Given the description of an element on the screen output the (x, y) to click on. 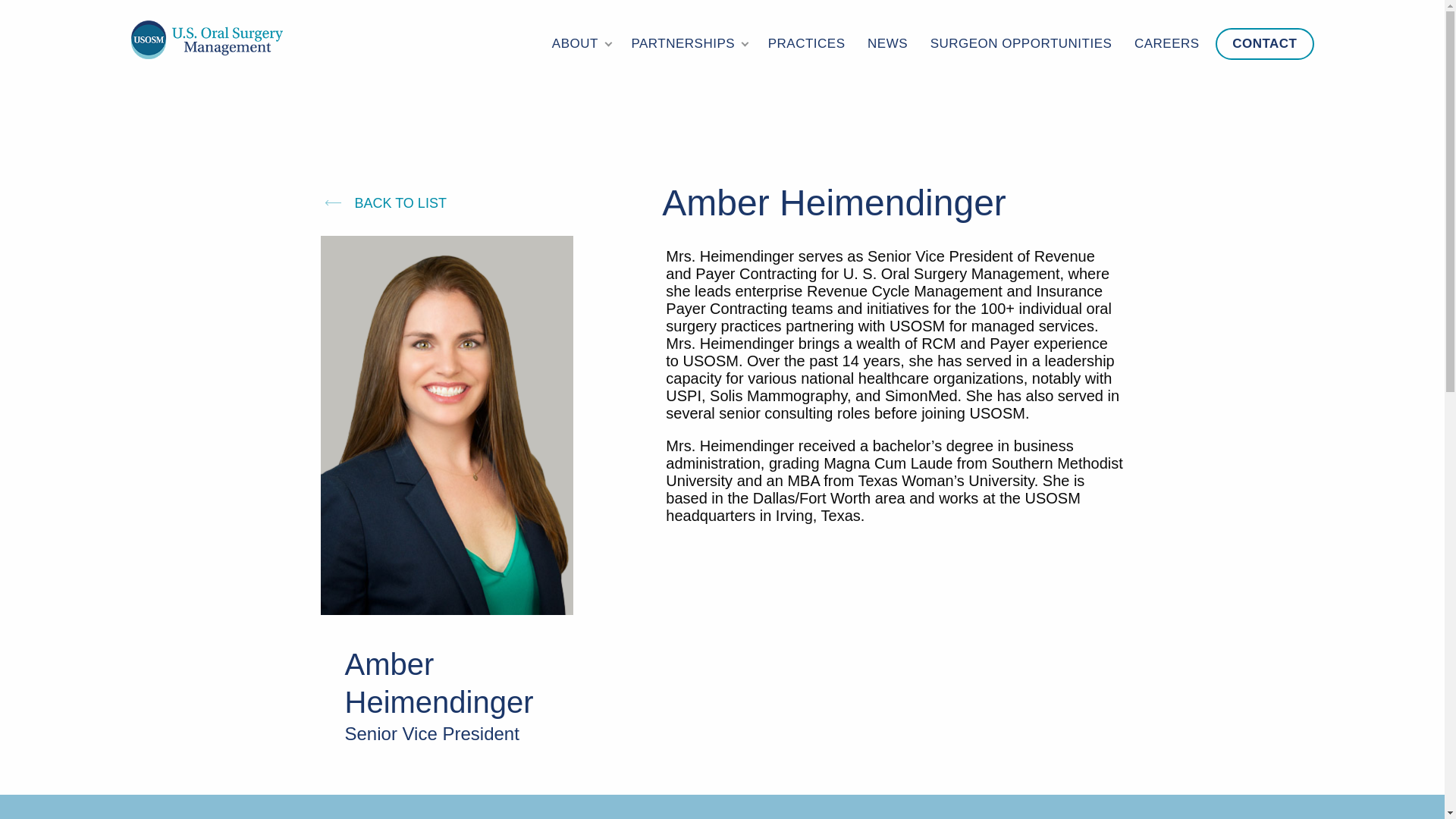
SURGEON OPPORTUNITIES (1021, 43)
NEWS (887, 43)
BACK TO LIST (382, 202)
CAREERS (1166, 43)
CONTACT (1264, 43)
PRACTICES (806, 43)
PARTNERSHIPS (687, 43)
USOSM (206, 39)
ABOUT (580, 43)
